Given the description of an element on the screen output the (x, y) to click on. 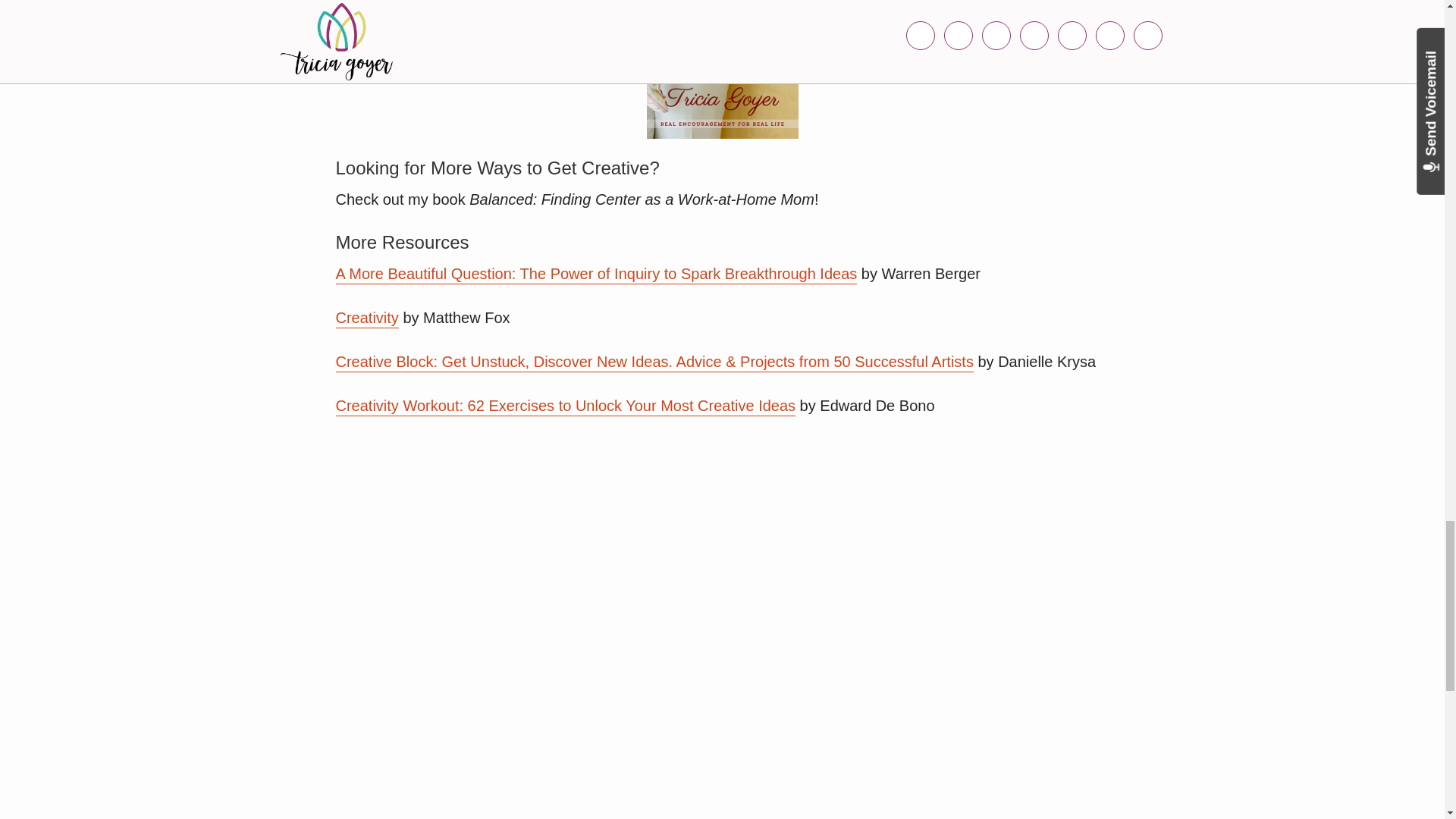
Creativity (365, 318)
